Given the description of an element on the screen output the (x, y) to click on. 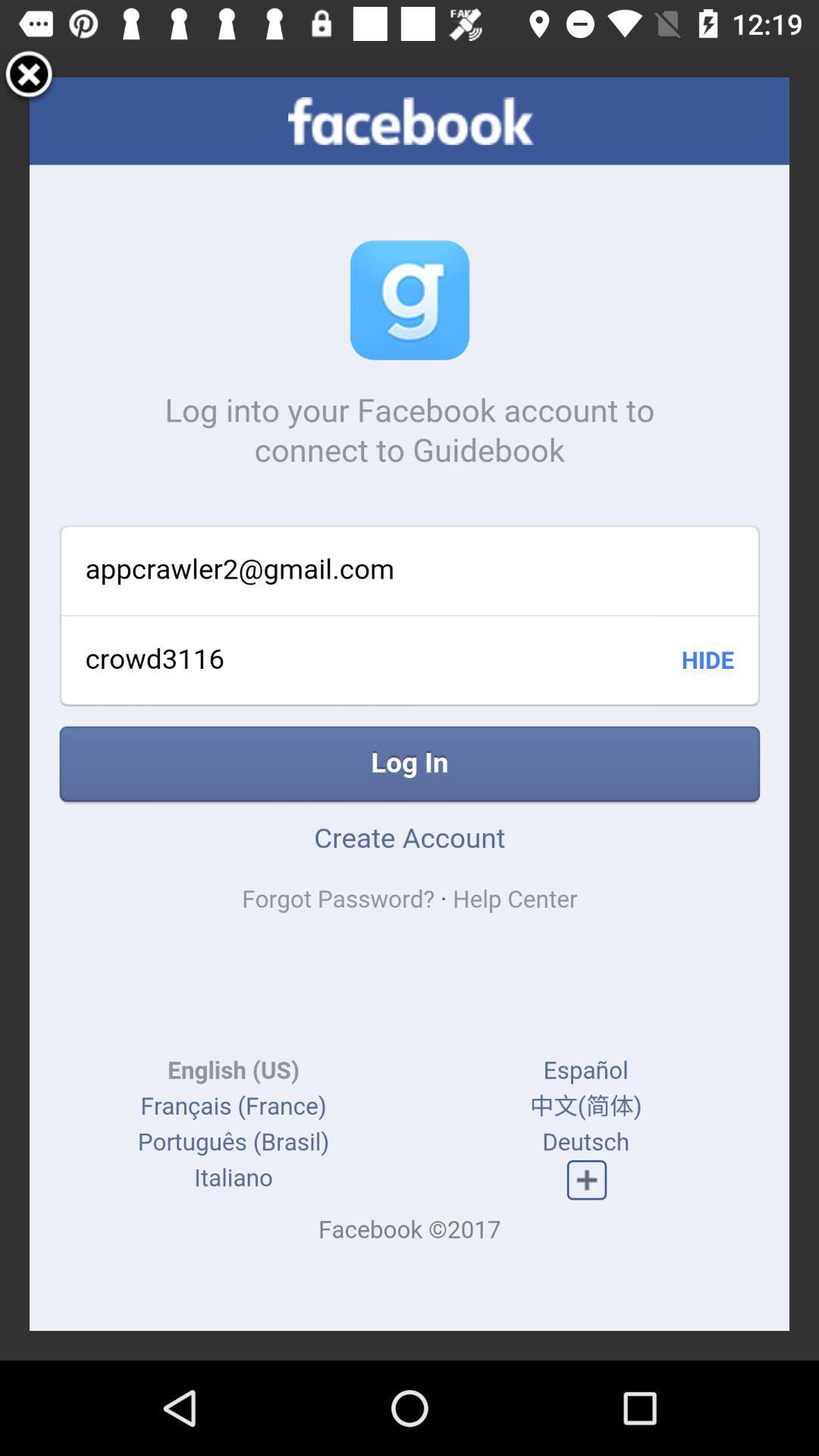
close window (29, 76)
